Given the description of an element on the screen output the (x, y) to click on. 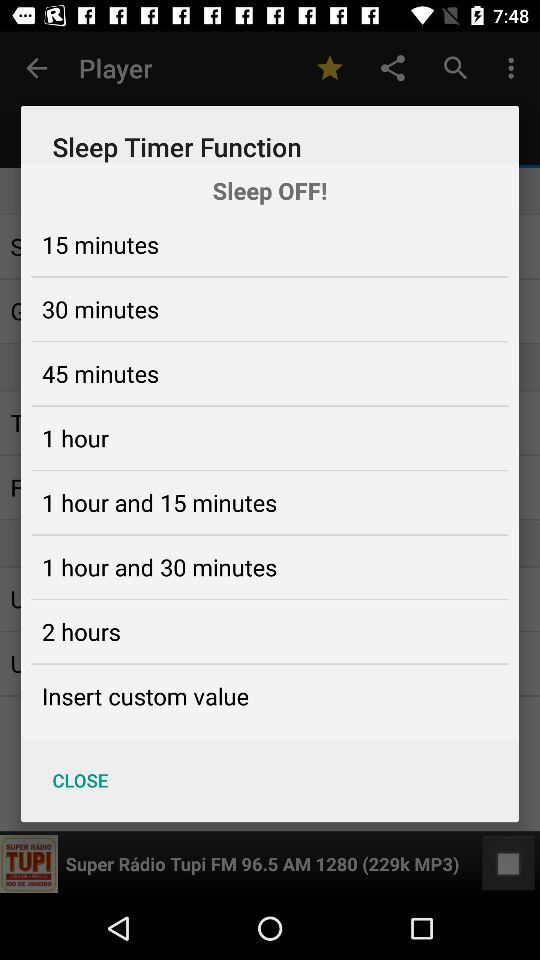
turn on icon above close icon (145, 696)
